Given the description of an element on the screen output the (x, y) to click on. 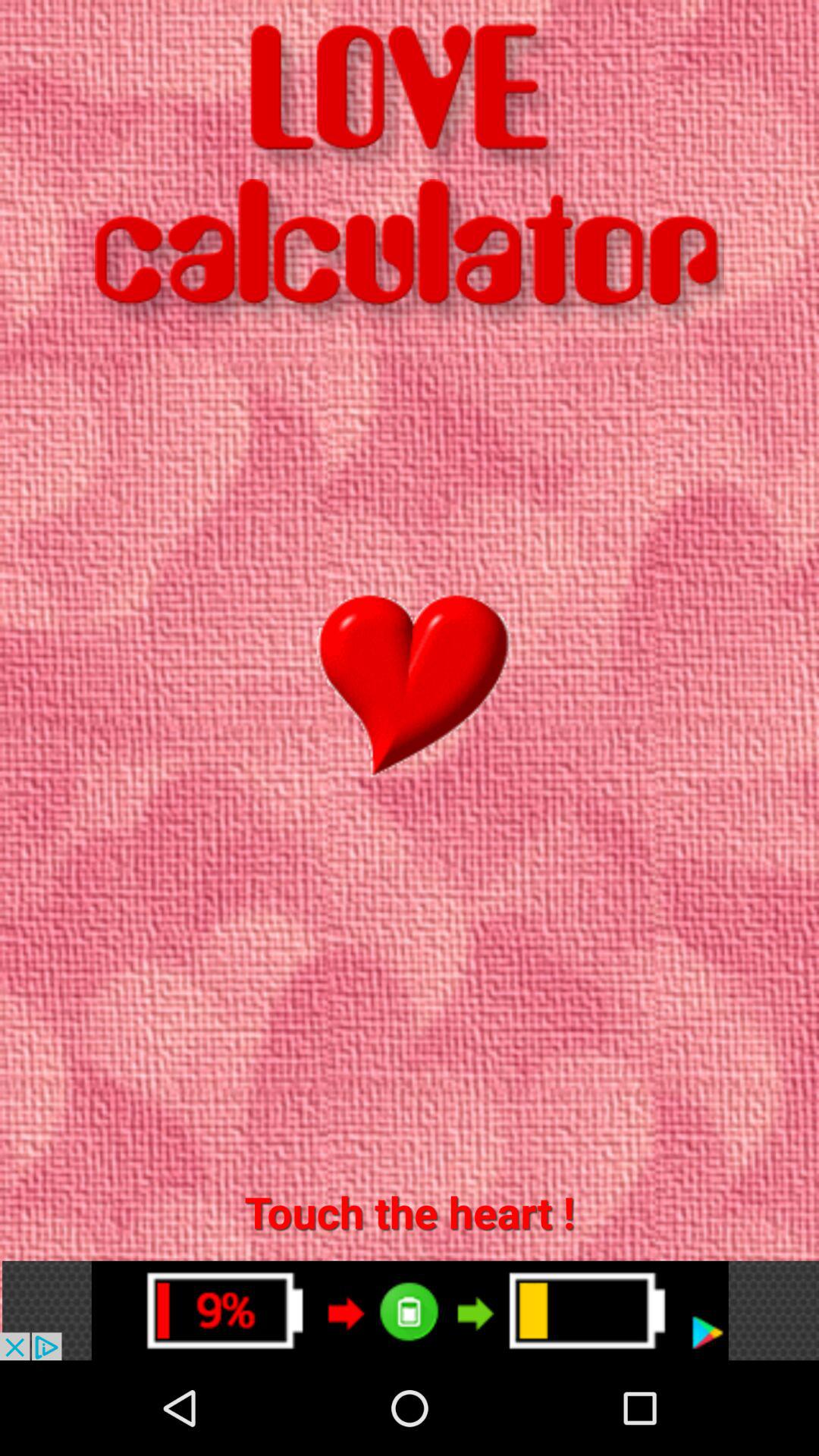
open advertisement (409, 1310)
